Given the description of an element on the screen output the (x, y) to click on. 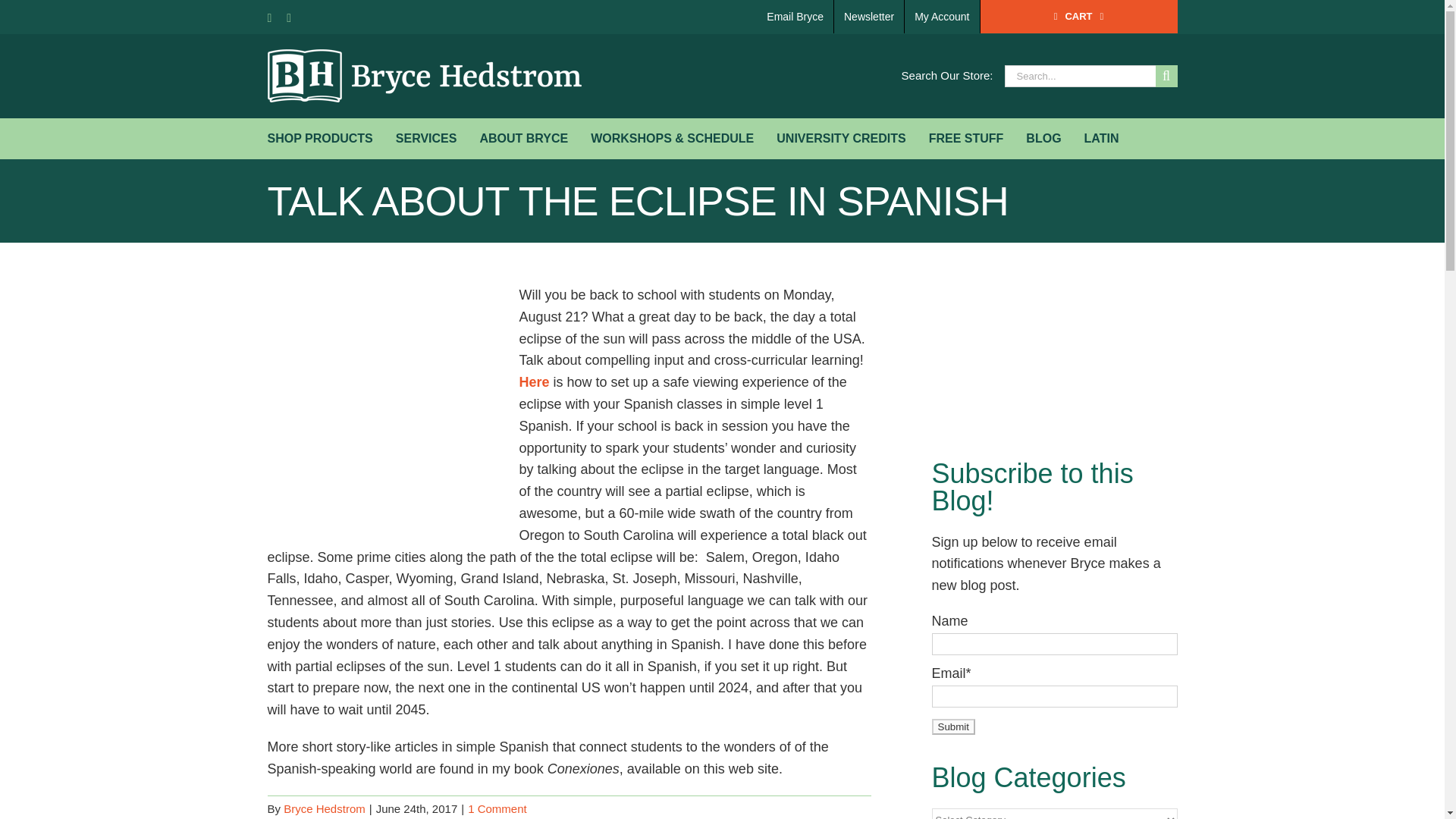
SHOP PRODUCTS (319, 137)
Posts by Bryce Hedstrom (324, 808)
Email Bryce (794, 16)
FREE STUFF (966, 137)
CART (1078, 16)
Submit (952, 726)
SERVICES (426, 137)
UNIVERSITY CREDITS (840, 137)
ABOUT BRYCE (523, 137)
Newsletter (869, 16)
